Given the description of an element on the screen output the (x, y) to click on. 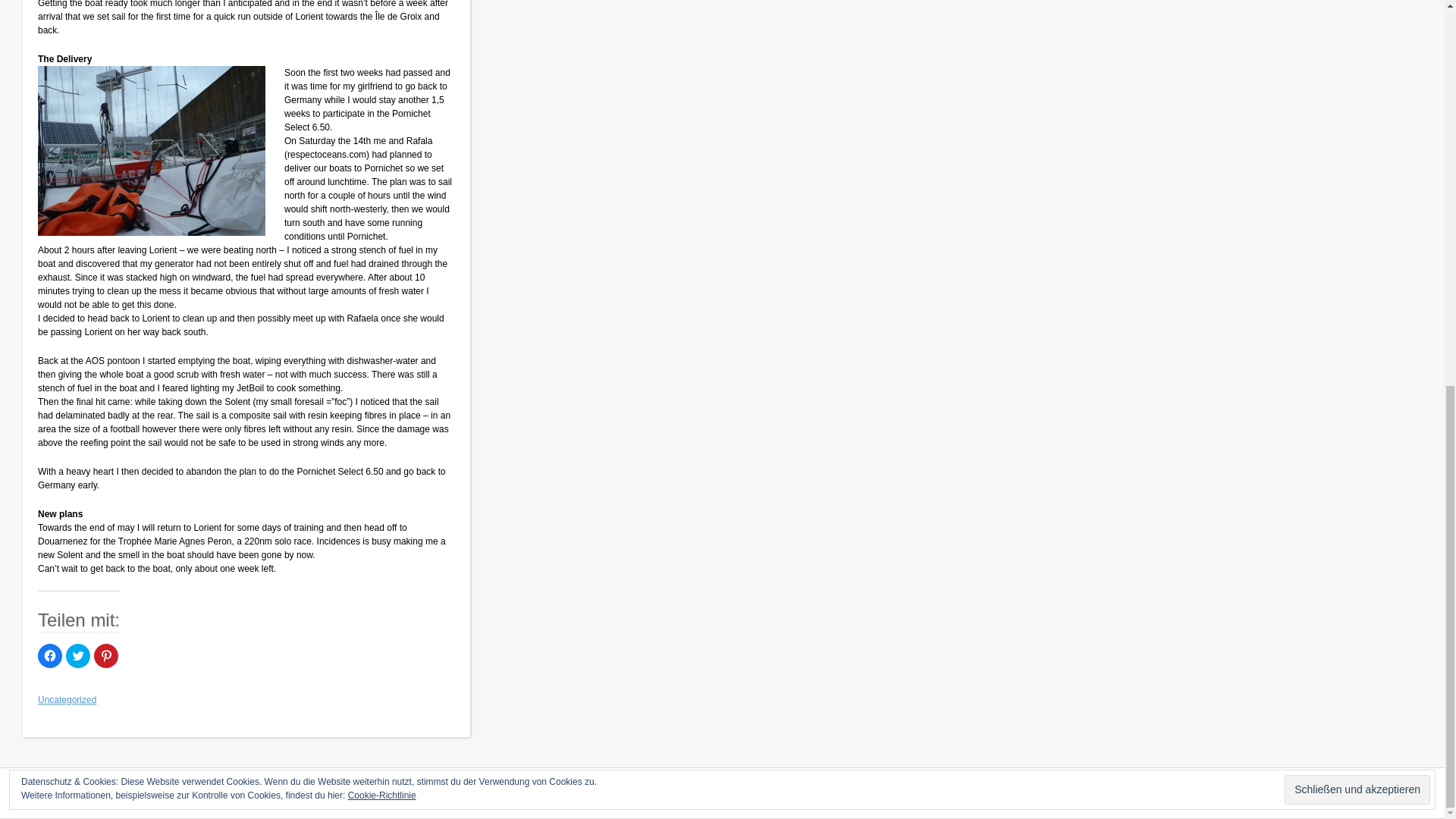
Cleaning the boat (150, 150)
Klick, um auf Facebook zu teilen (49, 655)
Cookie-Richtlinie (381, 67)
Klick, um auf Pinterest zu teilen (105, 655)
Shaken Grid Free (1395, 787)
Uncategorized (66, 699)
